Given the description of an element on the screen output the (x, y) to click on. 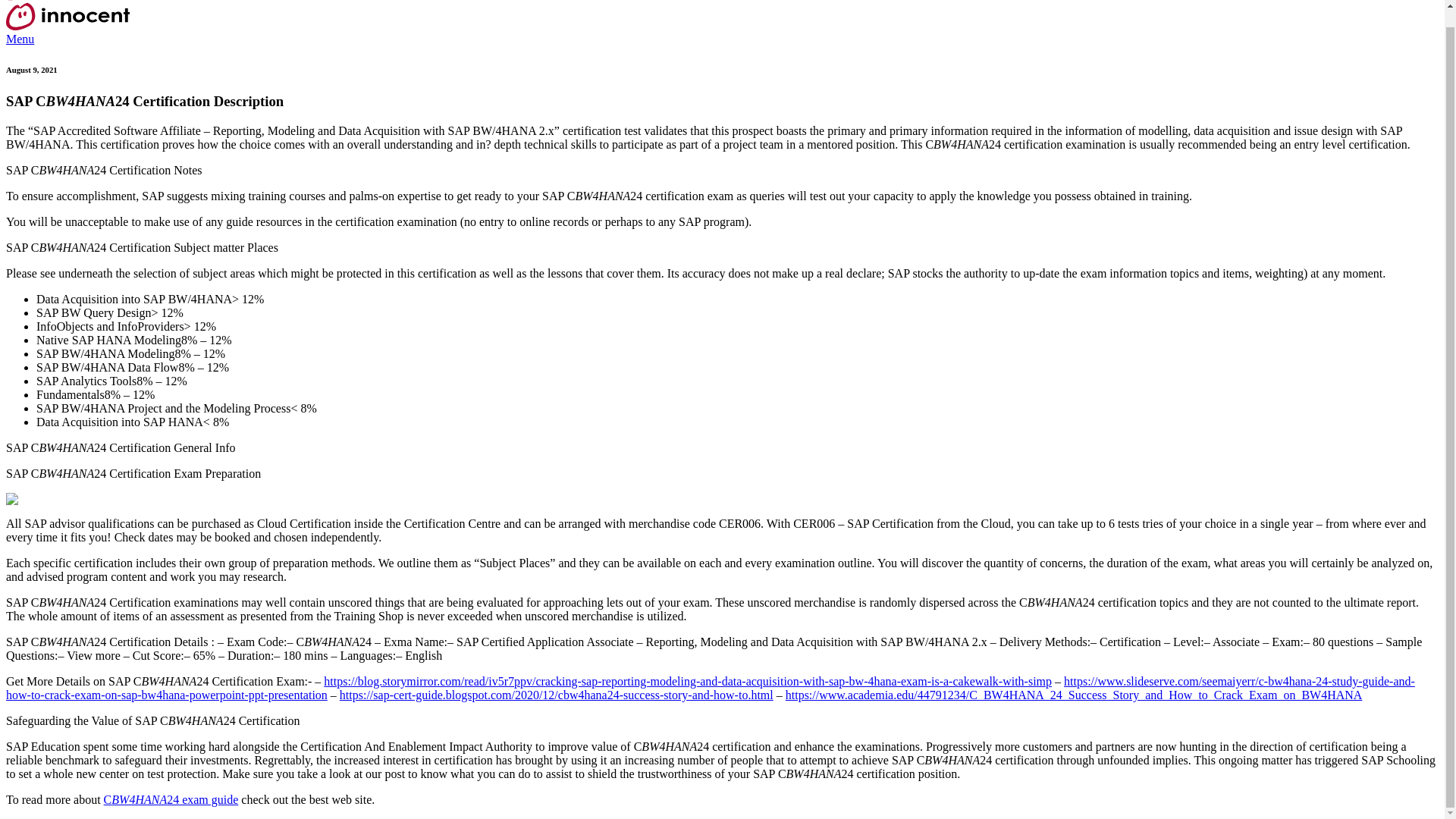
CBW4HANA24 exam guide (170, 799)
Menu (19, 38)
